Given the description of an element on the screen output the (x, y) to click on. 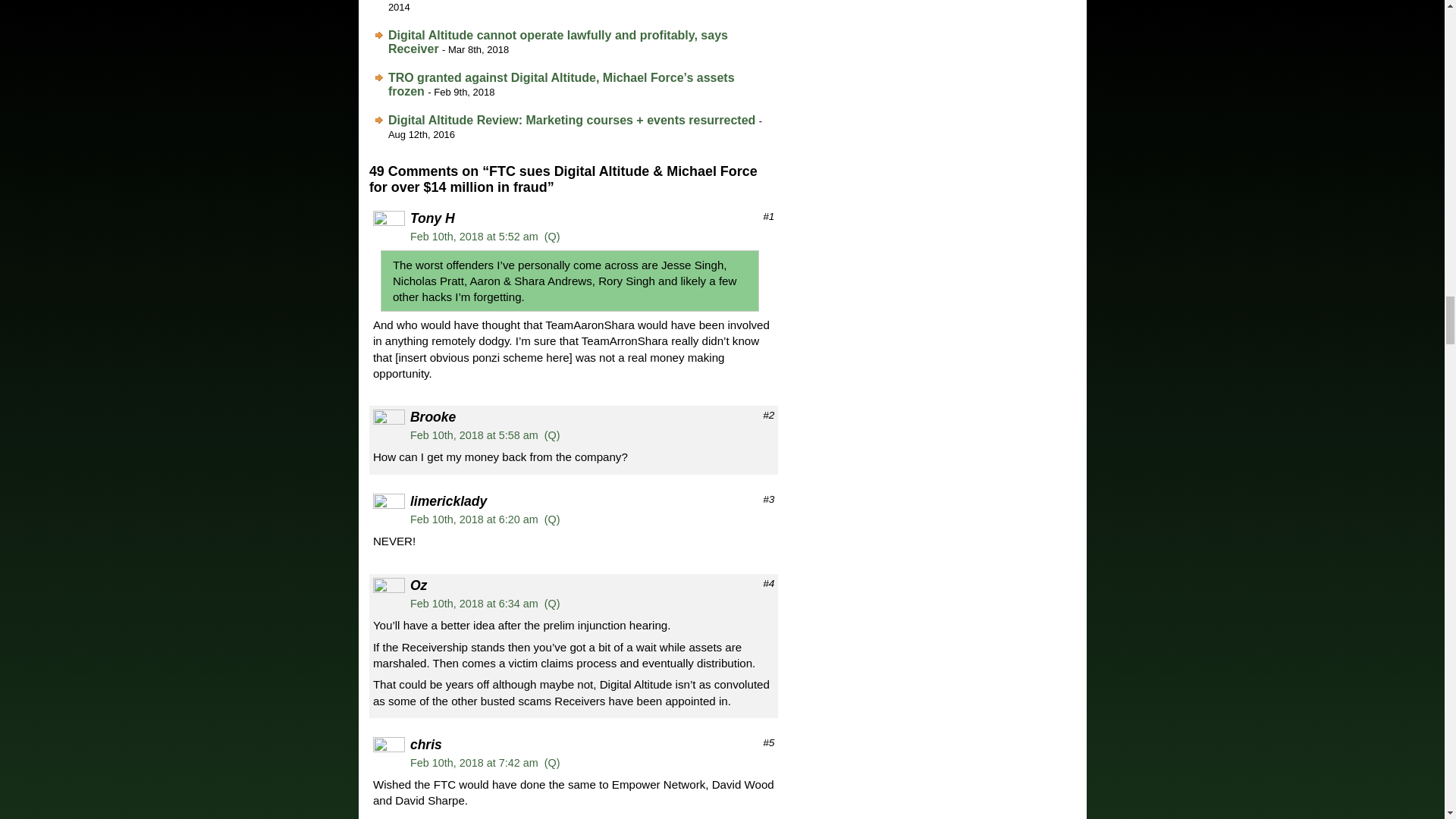
Click here or select text to quote comment (552, 519)
Feb 10th, 2018 at 6:34 am (474, 603)
Feb 10th, 2018 at 7:42 am (474, 762)
Feb 10th, 2018 at 6:20 am (474, 519)
Click here or select text to quote comment (552, 762)
Feb 10th, 2018 at 5:52 am (474, 236)
Feb 10th, 2018 at 5:58 am (474, 435)
Click here or select text to quote comment (552, 603)
Click here or select text to quote comment (552, 435)
Click here or select text to quote comment (552, 236)
